Given the description of an element on the screen output the (x, y) to click on. 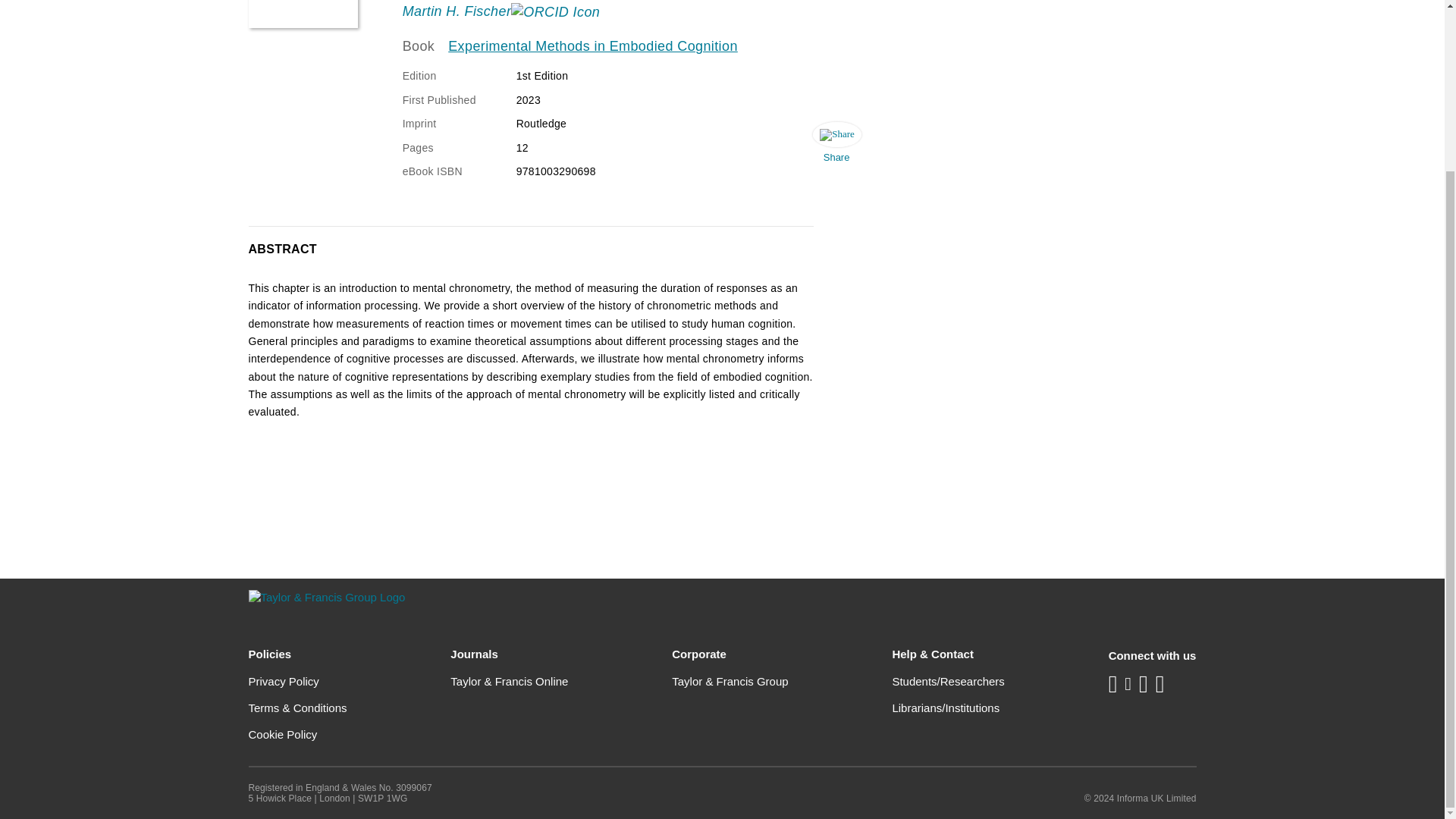
Experimental Methods in Embodied Cognition (593, 46)
Chronometric methods (303, 13)
Martin H. Fischer (457, 11)
ORCID Icon (555, 12)
Share (836, 145)
Privacy Policy (283, 681)
Cookie Policy (282, 734)
ORCID Icon (578, 1)
